Given the description of an element on the screen output the (x, y) to click on. 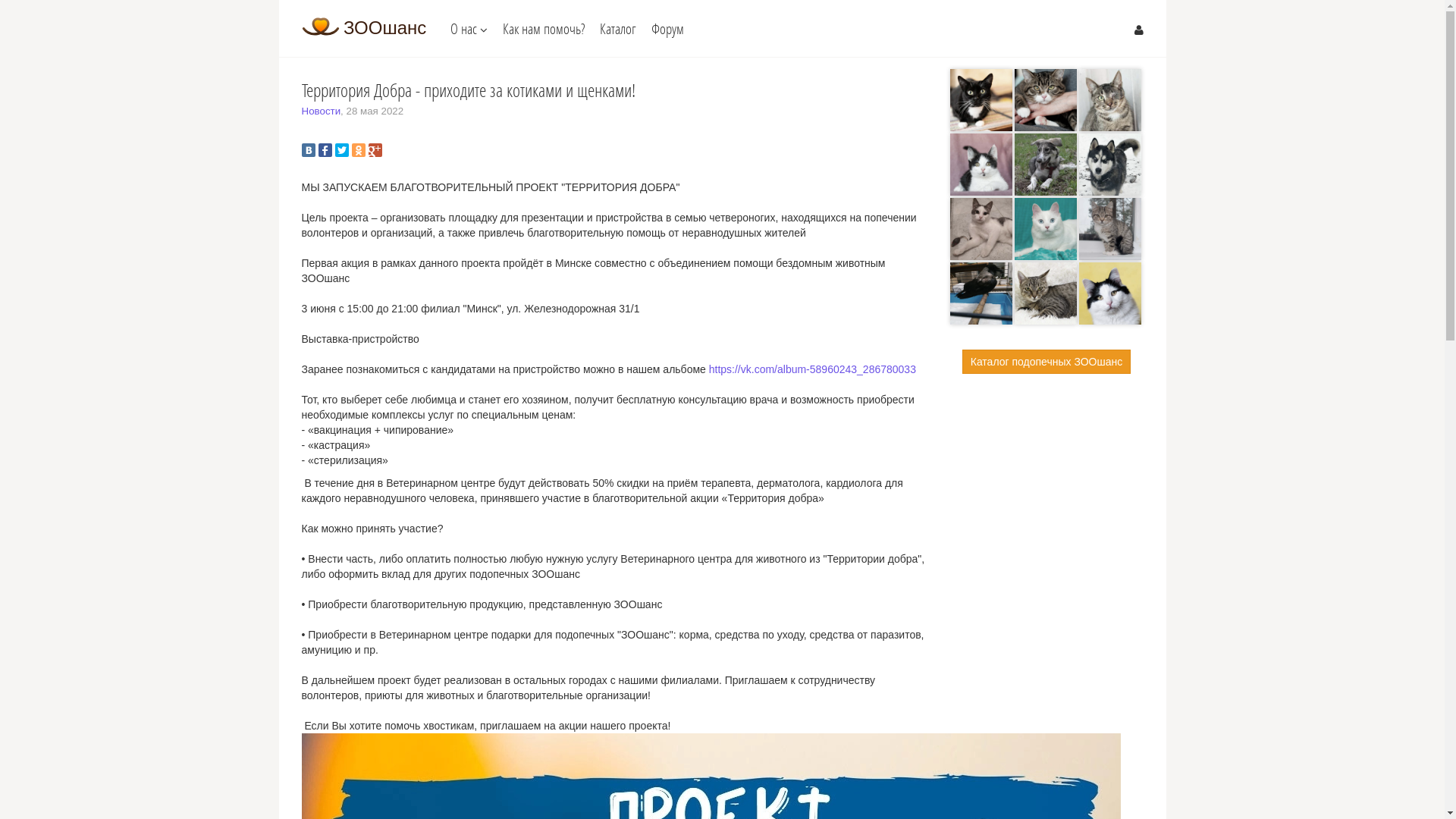
Google Plus Element type: hover (375, 149)
Twitter Element type: hover (341, 149)
https://vk.com/album-58960243_286780033 Element type: text (812, 369)
Facebook Element type: hover (325, 149)
